Given the description of an element on the screen output the (x, y) to click on. 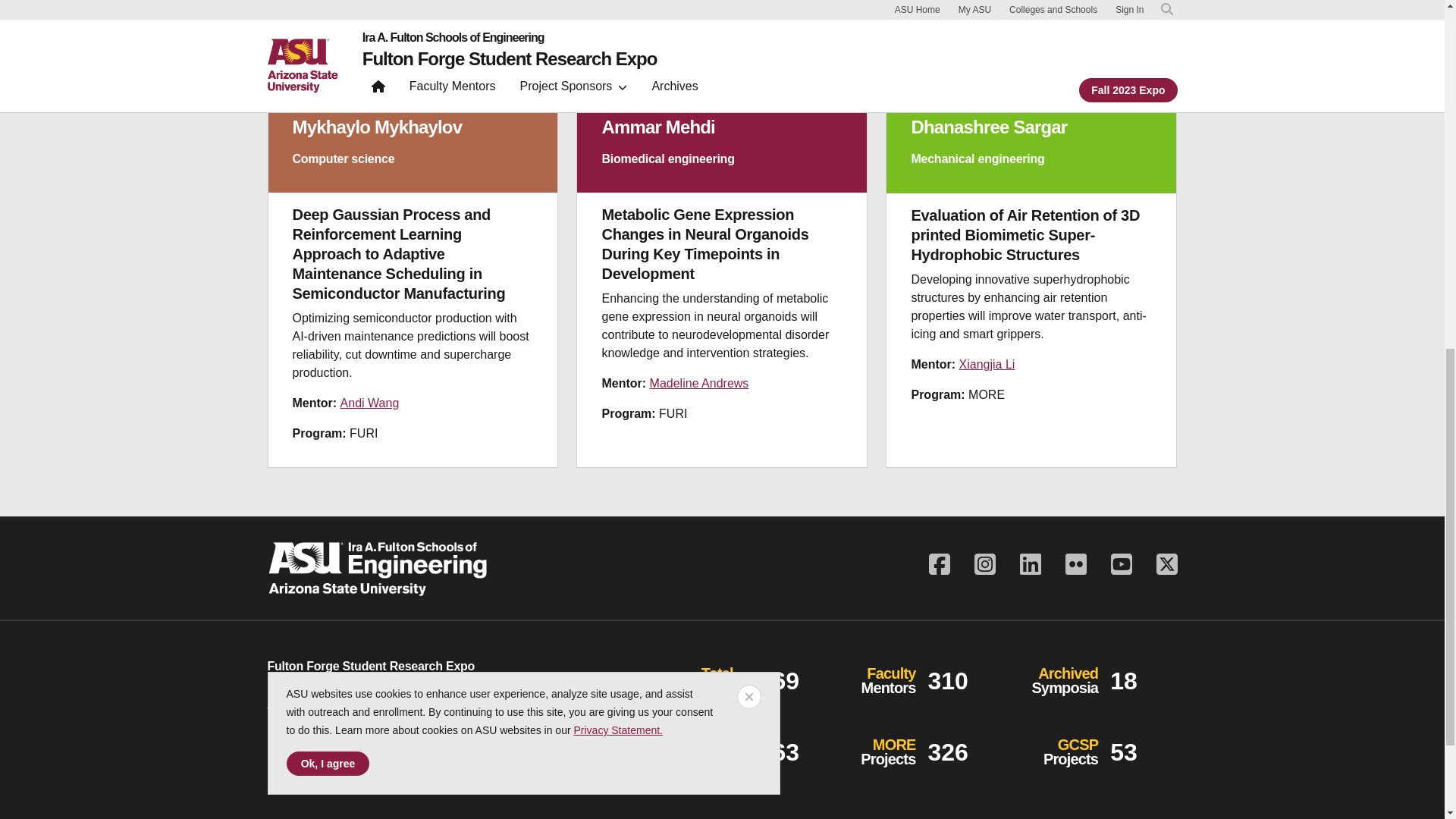
Andi Wang (369, 402)
Contact Us (296, 702)
Madeline Andrews (699, 382)
Contribute (322, 754)
Xiangjia Li (986, 364)
